Given the description of an element on the screen output the (x, y) to click on. 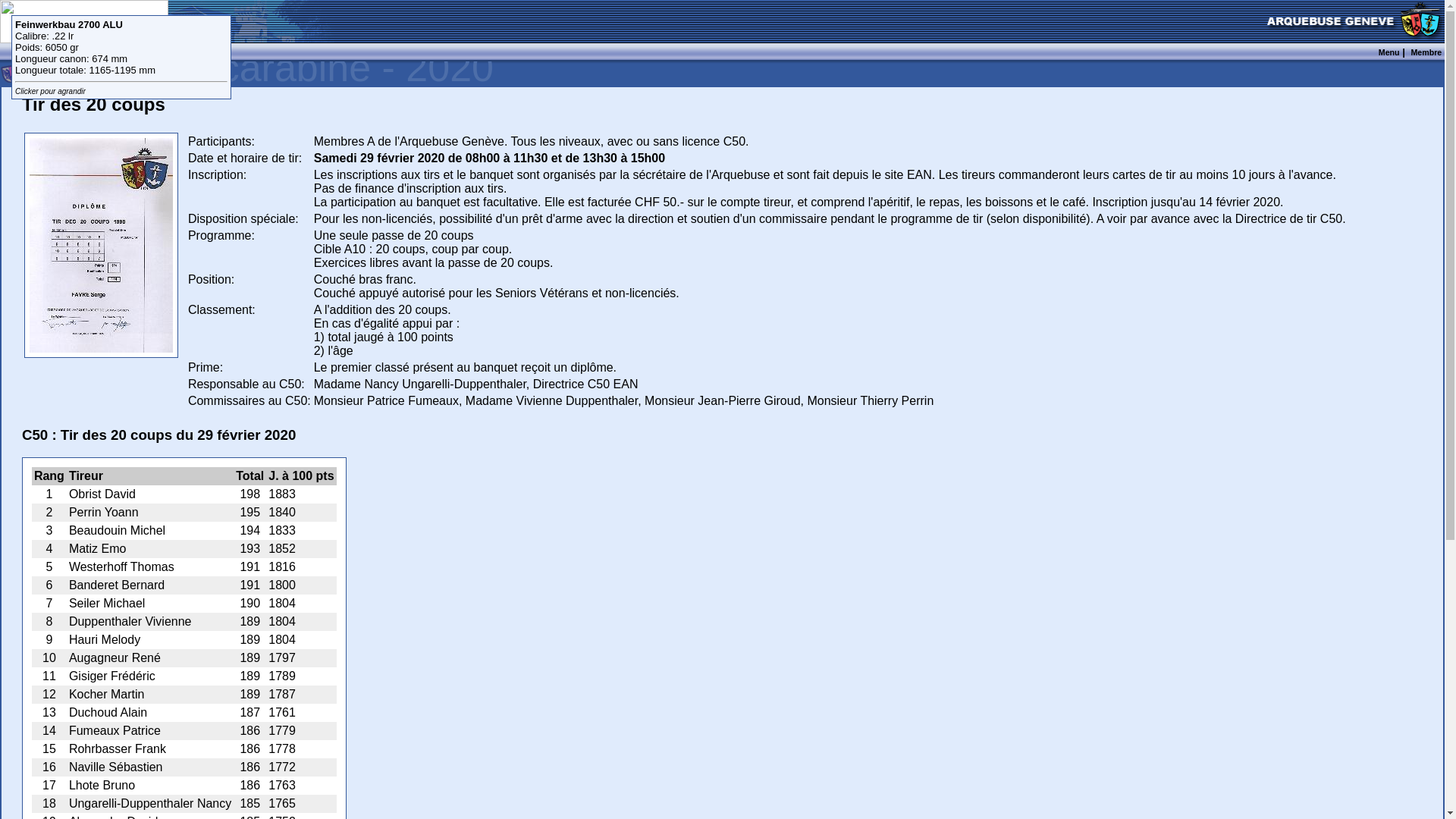
Membre Element type: text (1425, 51)
Menu Element type: text (1388, 51)
